Given the description of an element on the screen output the (x, y) to click on. 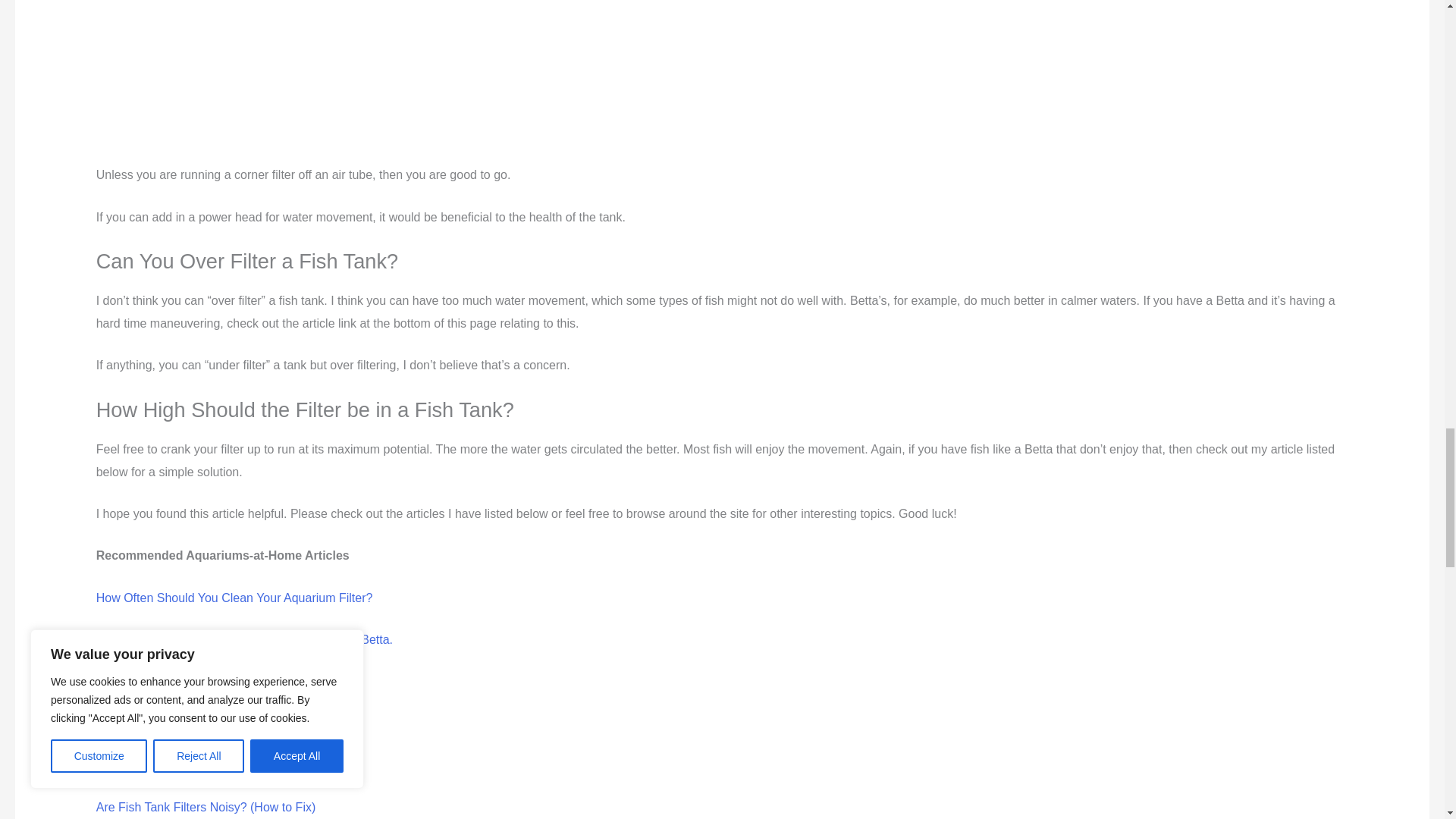
YUMZ D9 GUMMIES (463, 79)
